Given the description of an element on the screen output the (x, y) to click on. 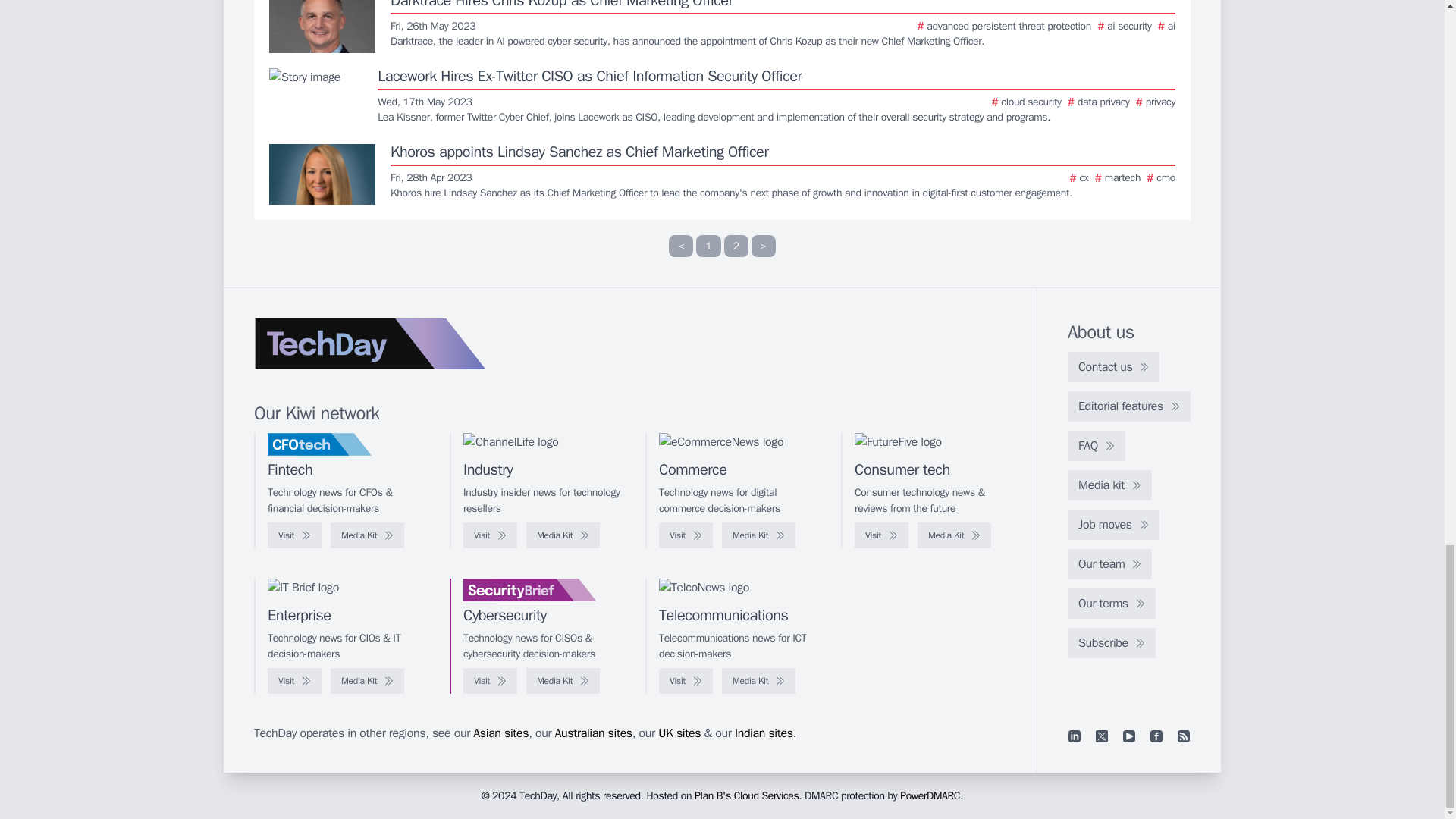
Visit (489, 534)
Visit (294, 534)
Media Kit (367, 534)
Media Kit (562, 534)
2 (735, 246)
1 (707, 246)
